Given the description of an element on the screen output the (x, y) to click on. 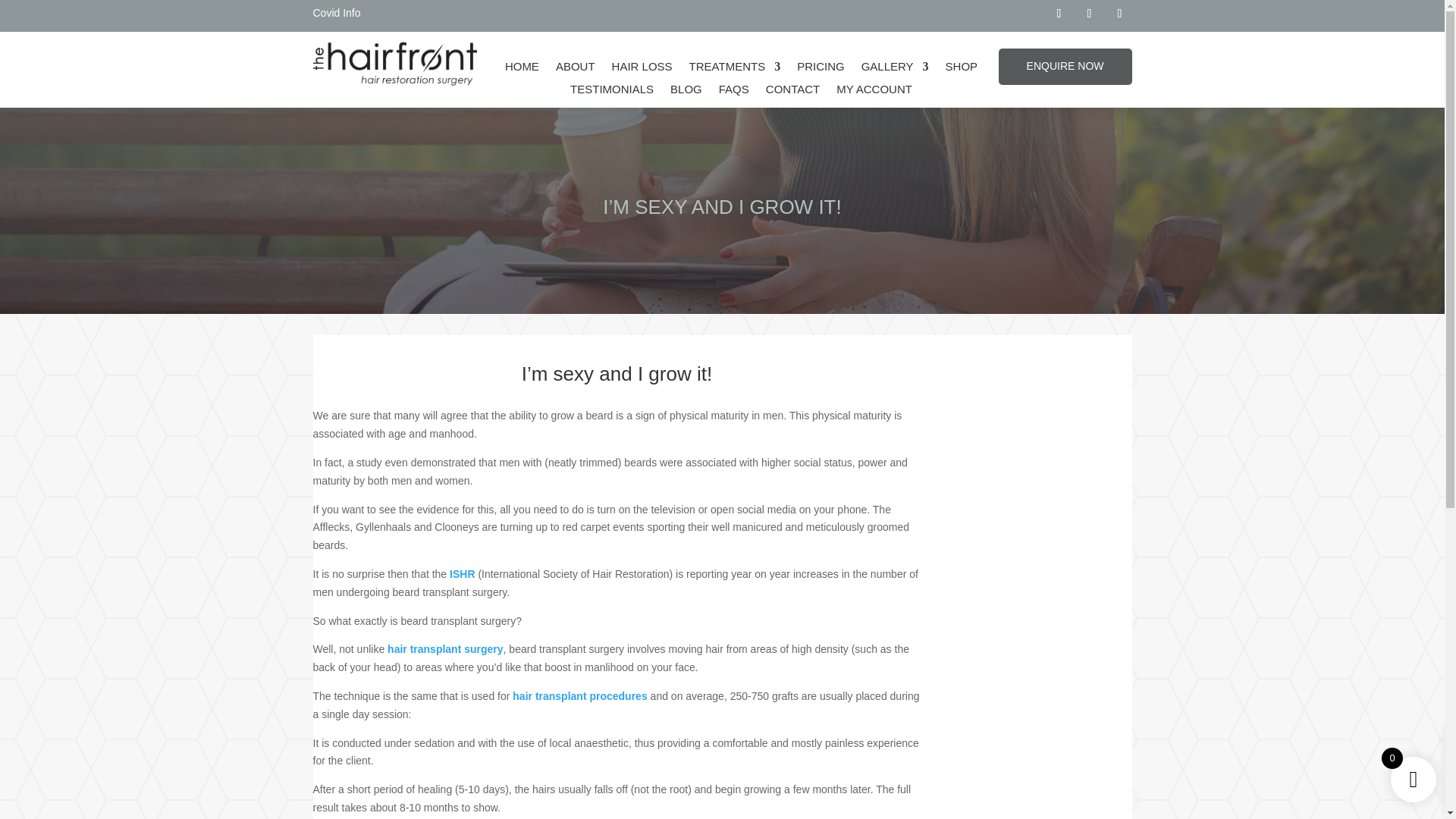
FAQS (734, 92)
Follow on Facebook (1058, 13)
CONTACT (792, 92)
Covid Info (336, 15)
GALLERY (894, 69)
PRICING (820, 69)
Follow on X (1088, 13)
ENQUIRE NOW (1065, 66)
Follow on Instagram (1118, 13)
SHOP (961, 69)
TESTIMONIALS (611, 92)
TREATMENTS (734, 69)
MY ACCOUNT (873, 92)
HOME (521, 69)
ABOUT (575, 69)
